Given the description of an element on the screen output the (x, y) to click on. 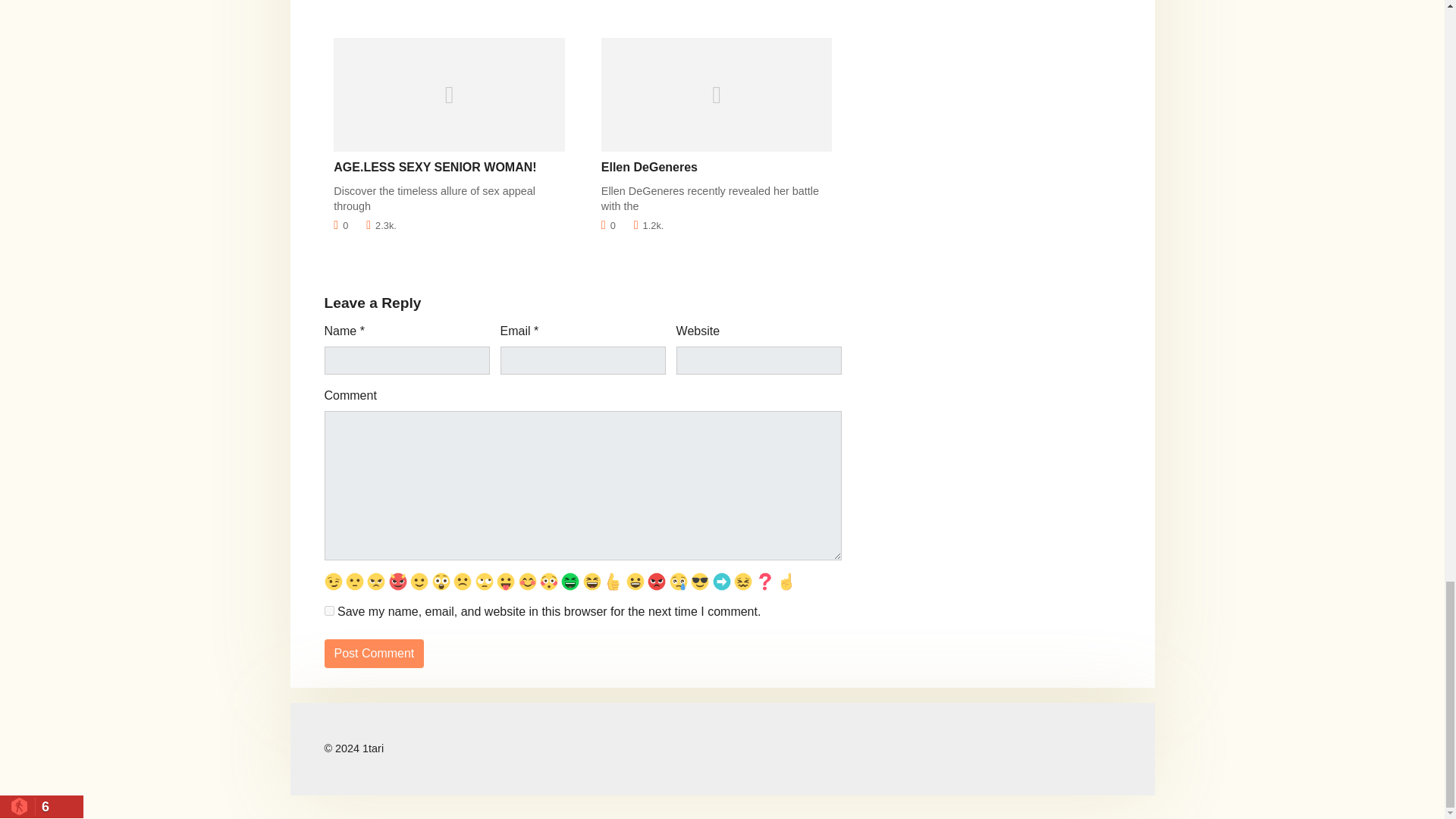
6 (41, 806)
Post Comment (374, 653)
yes (329, 610)
AGE.LESS SEXY SENIOR WOMAN! (434, 166)
Click to see what's popular on this site! (41, 806)
Ellen DeGeneres (649, 166)
Post Comment (374, 653)
